Given the description of an element on the screen output the (x, y) to click on. 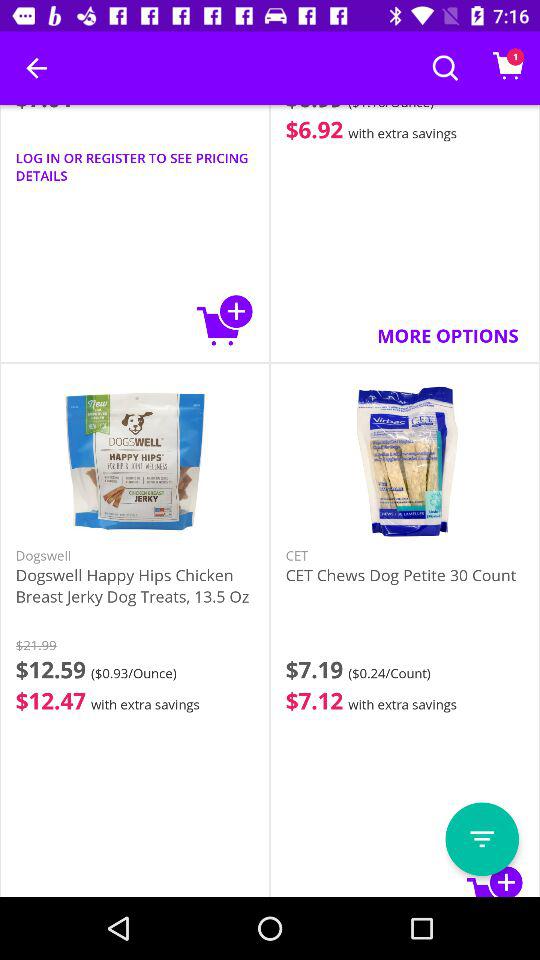
add to cart (225, 319)
